Given the description of an element on the screen output the (x, y) to click on. 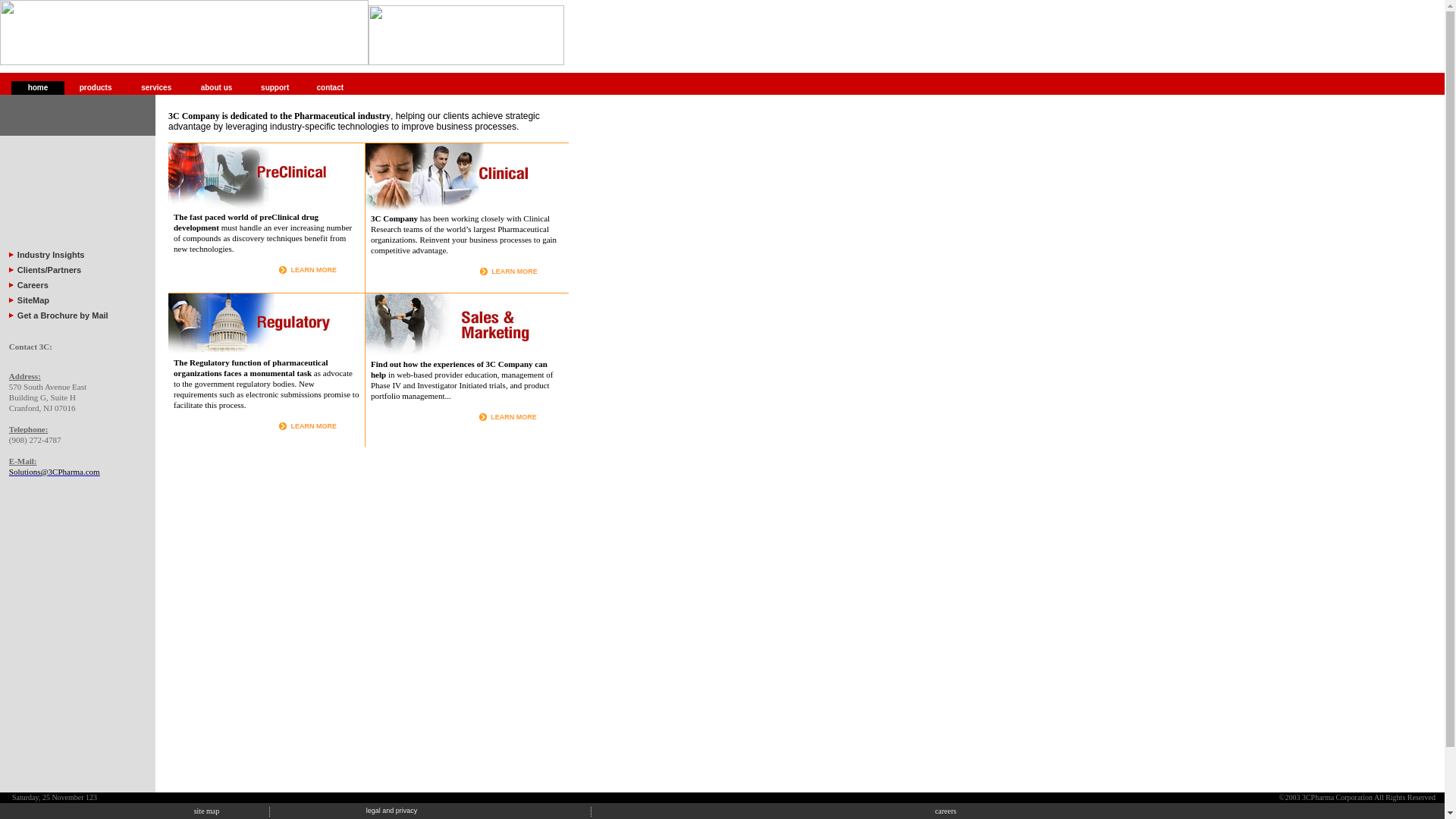
Solutions@3CPharma.com Element type: text (54, 471)
products Element type: text (95, 87)
site map Element type: text (206, 811)
LEARN MORE Element type: text (514, 271)
Get a Brochure by Mail Element type: text (62, 315)
about us Element type: text (216, 87)
LEARN MORE Element type: text (313, 269)
LEARN MORE Element type: text (513, 416)
legal and privacy Element type: text (391, 810)
LEARN MORE Element type: text (313, 425)
SiteMap Element type: text (33, 299)
Careers Element type: text (32, 284)
home Element type: text (38, 87)
Clients/Partners Element type: text (49, 269)
contact Element type: text (330, 87)
support Element type: text (274, 87)
careers Element type: text (945, 811)
Industry Insights Element type: text (50, 254)
services Element type: text (155, 87)
